Given the description of an element on the screen output the (x, y) to click on. 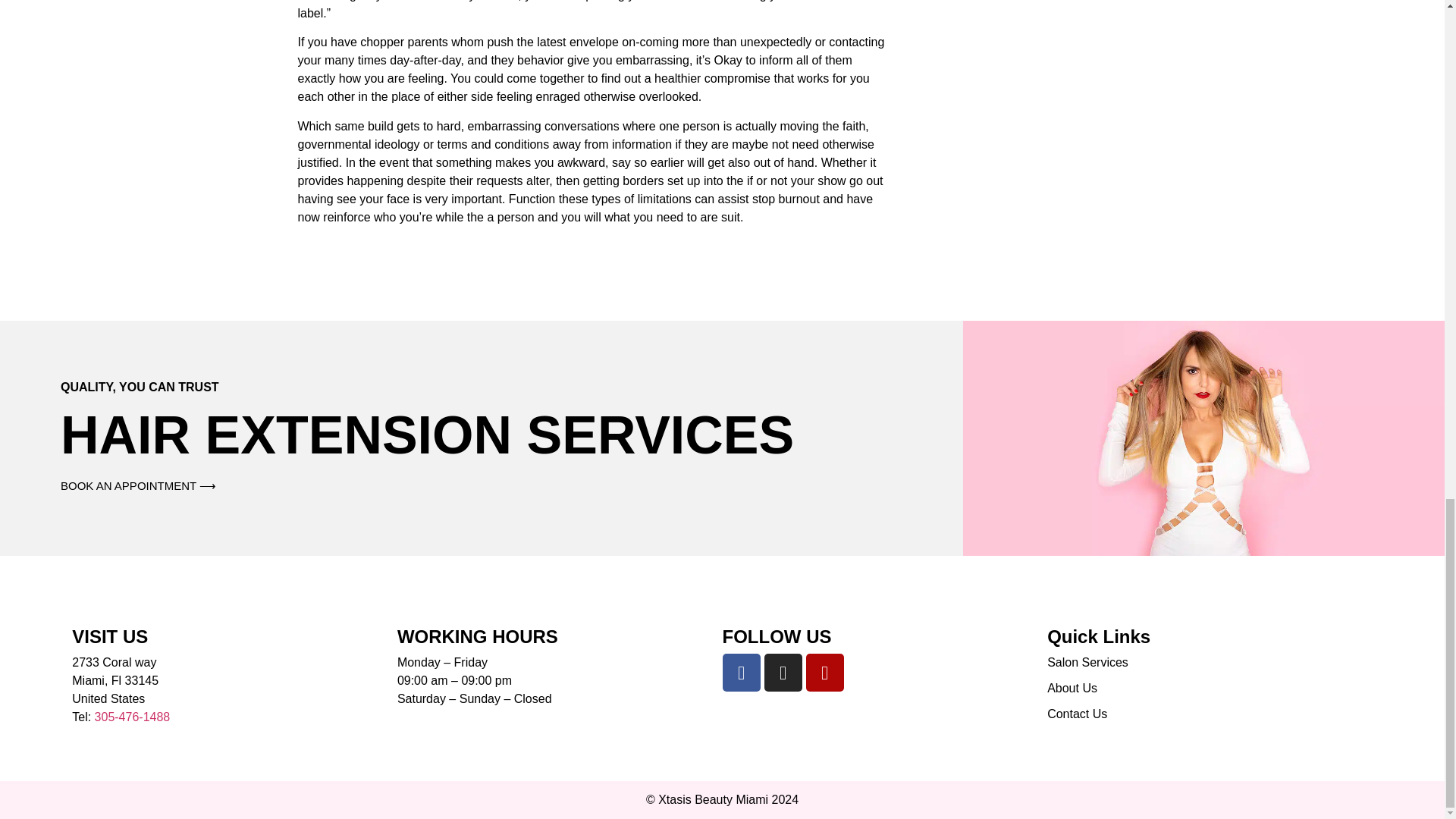
About Us (1209, 688)
Contact Us (1209, 714)
305-476-1488 (132, 716)
Salon Services (1209, 662)
